Given the description of an element on the screen output the (x, y) to click on. 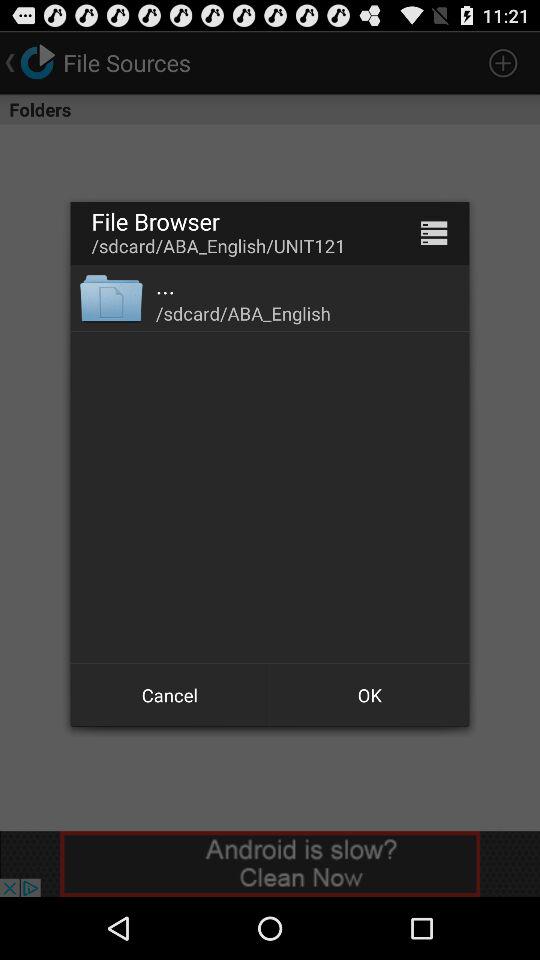
press item to the left of ok button (169, 694)
